Given the description of an element on the screen output the (x, y) to click on. 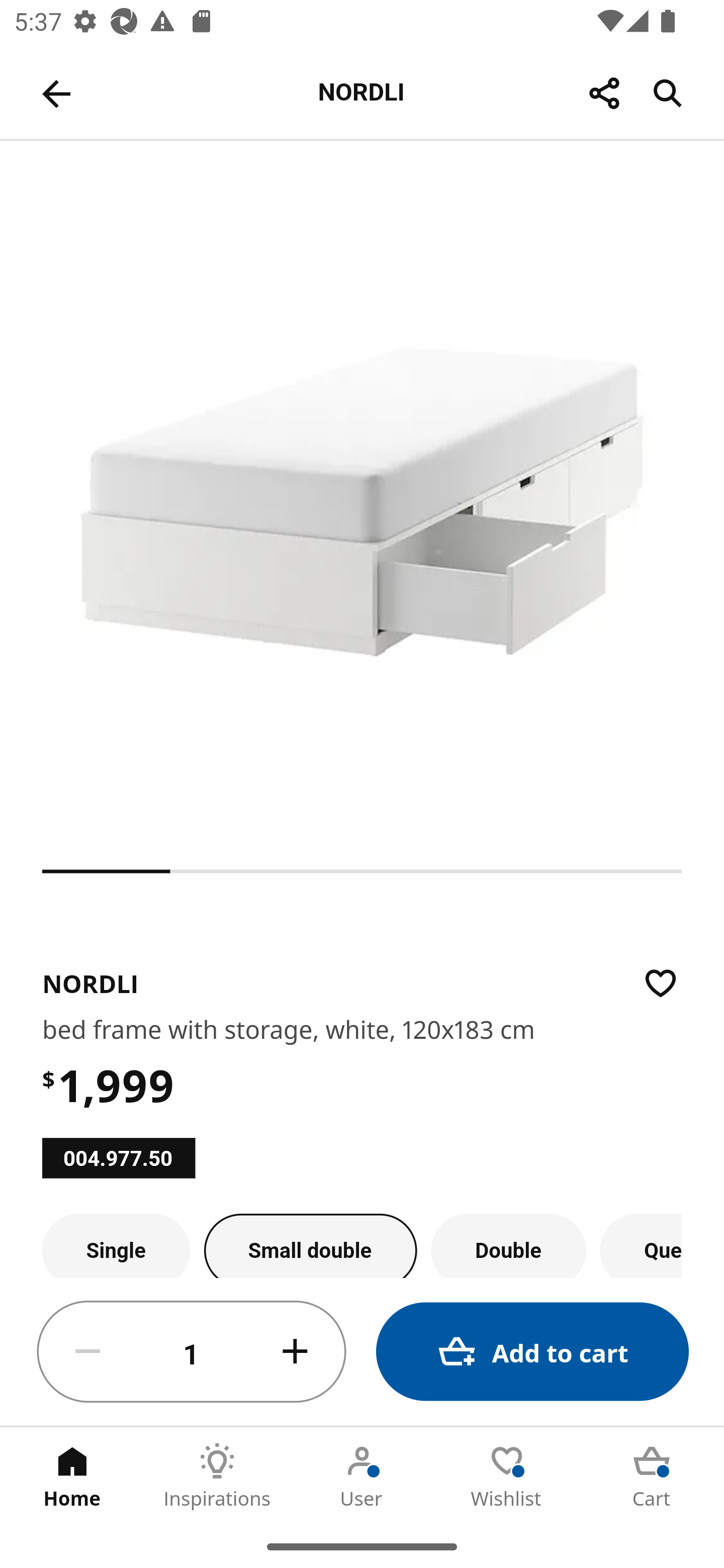
Single (115, 1245)
Small double (310, 1245)
Double (508, 1245)
Add to cart (531, 1352)
1 (191, 1352)
Home
Tab 1 of 5 (72, 1476)
Inspirations
Tab 2 of 5 (216, 1476)
User
Tab 3 of 5 (361, 1476)
Wishlist
Tab 4 of 5 (506, 1476)
Cart
Tab 5 of 5 (651, 1476)
